Given the description of an element on the screen output the (x, y) to click on. 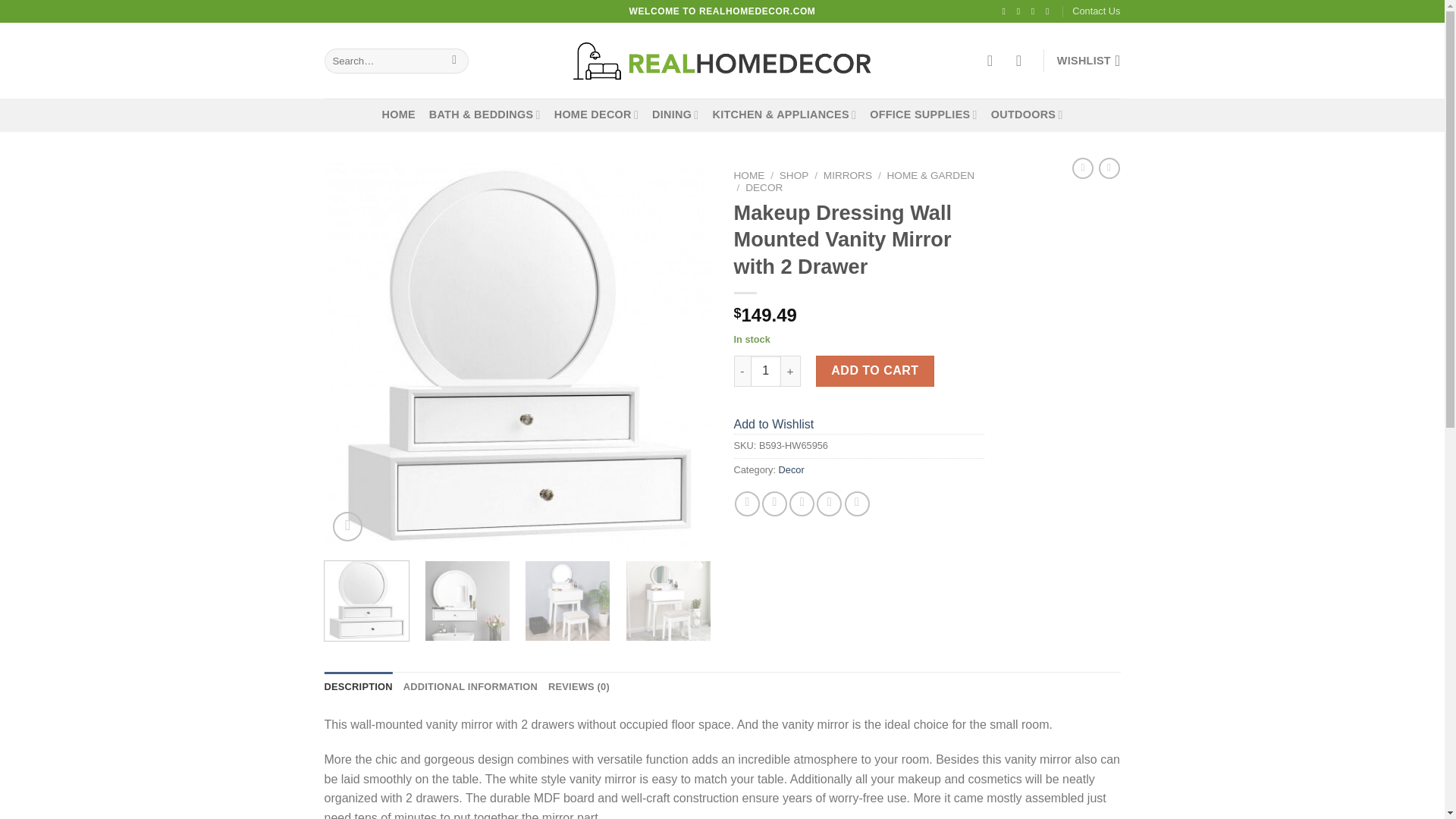
Contact Us (1095, 11)
RealHomeDecor - Wide Range of Furniture and Home Accessories (721, 60)
HOME (397, 114)
WISHLIST (1089, 60)
Search (454, 61)
1 (765, 370)
Qty (765, 370)
DINING (675, 114)
HOME DECOR (596, 114)
